Given the description of an element on the screen output the (x, y) to click on. 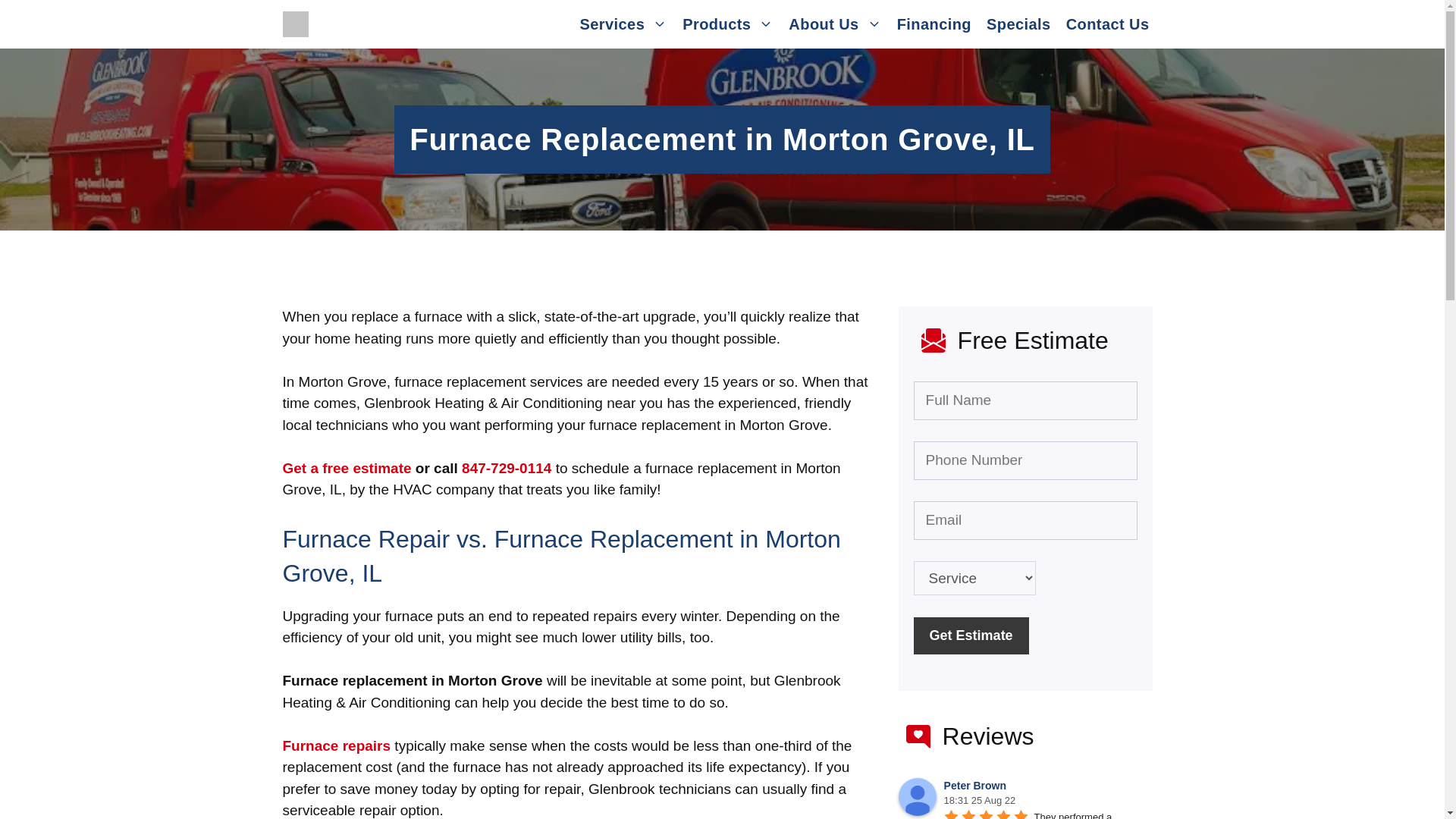
About Us (834, 24)
Products (727, 24)
Get Estimate (971, 635)
Services (623, 24)
Peter Brown (917, 796)
